Given the description of an element on the screen output the (x, y) to click on. 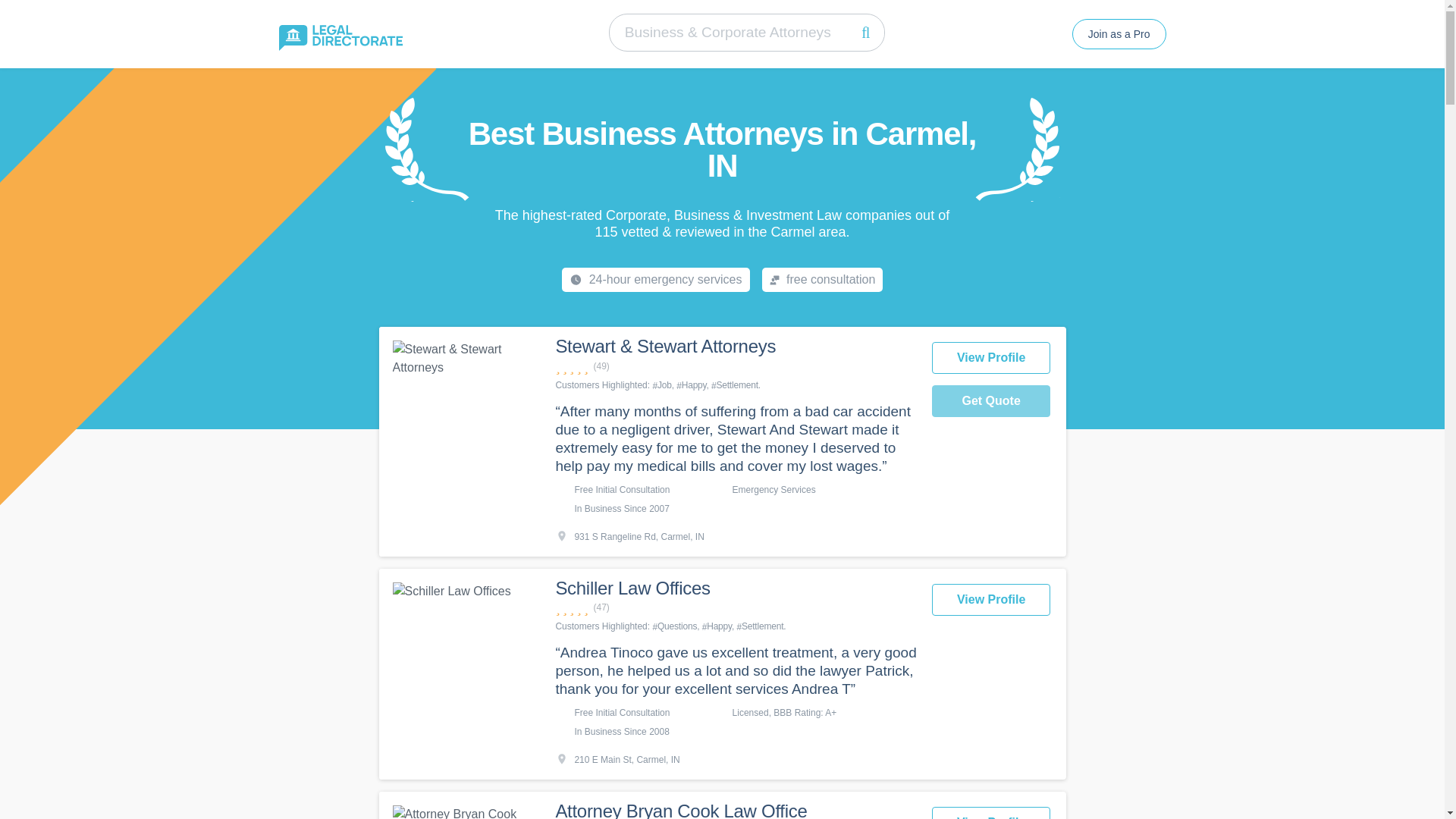
Search (865, 32)
4.8 (734, 607)
Join as a Pro (1118, 33)
Get Quote (991, 400)
4.8 (734, 366)
Search (865, 32)
free consultation (821, 279)
24-hour emergency services (655, 279)
Search (865, 32)
